Given the description of an element on the screen output the (x, y) to click on. 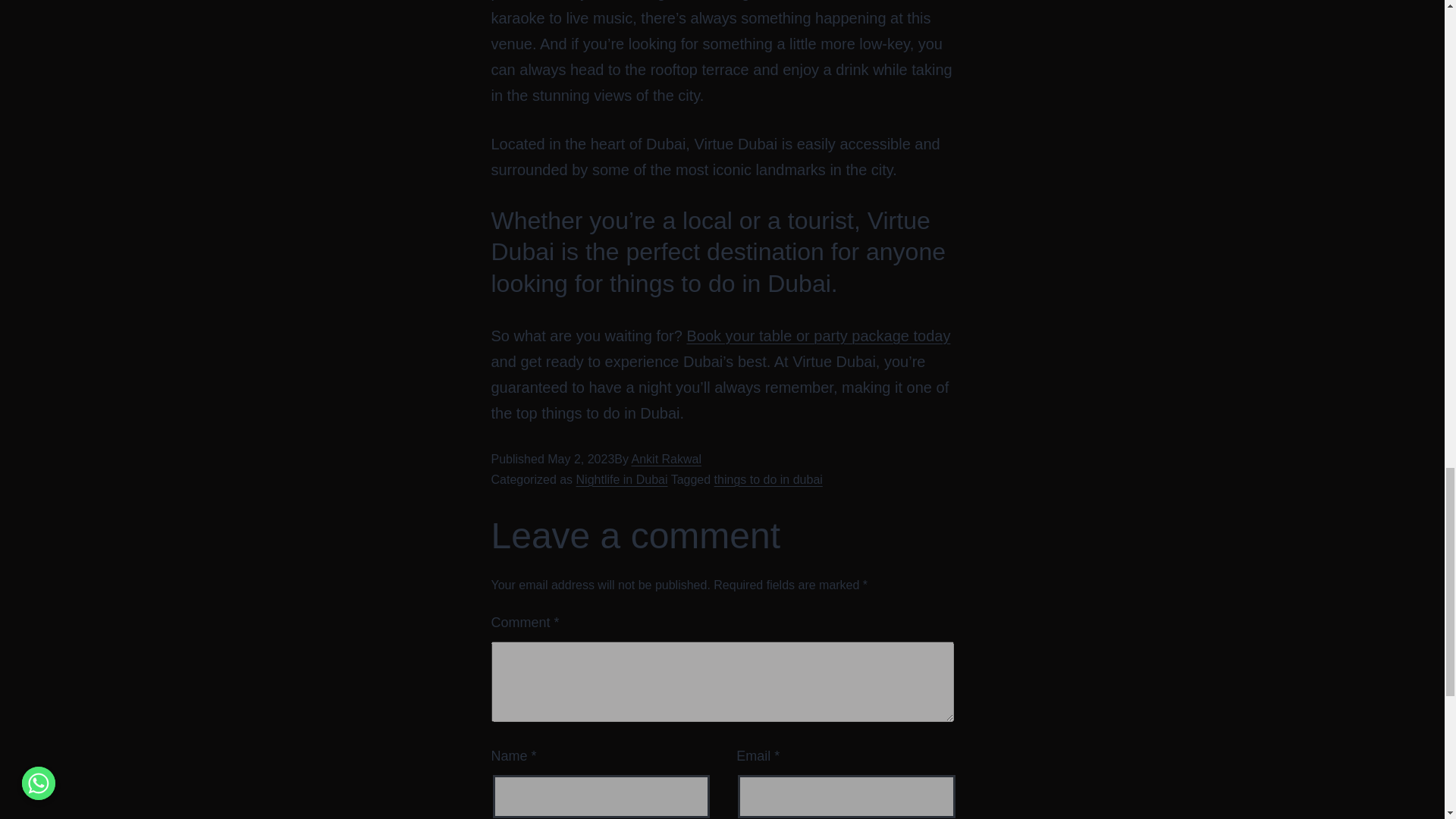
things to do in dubai (768, 479)
Ankit Rakwal (666, 459)
Book your table or party package today (817, 335)
Nightlife in Dubai (622, 479)
